Given the description of an element on the screen output the (x, y) to click on. 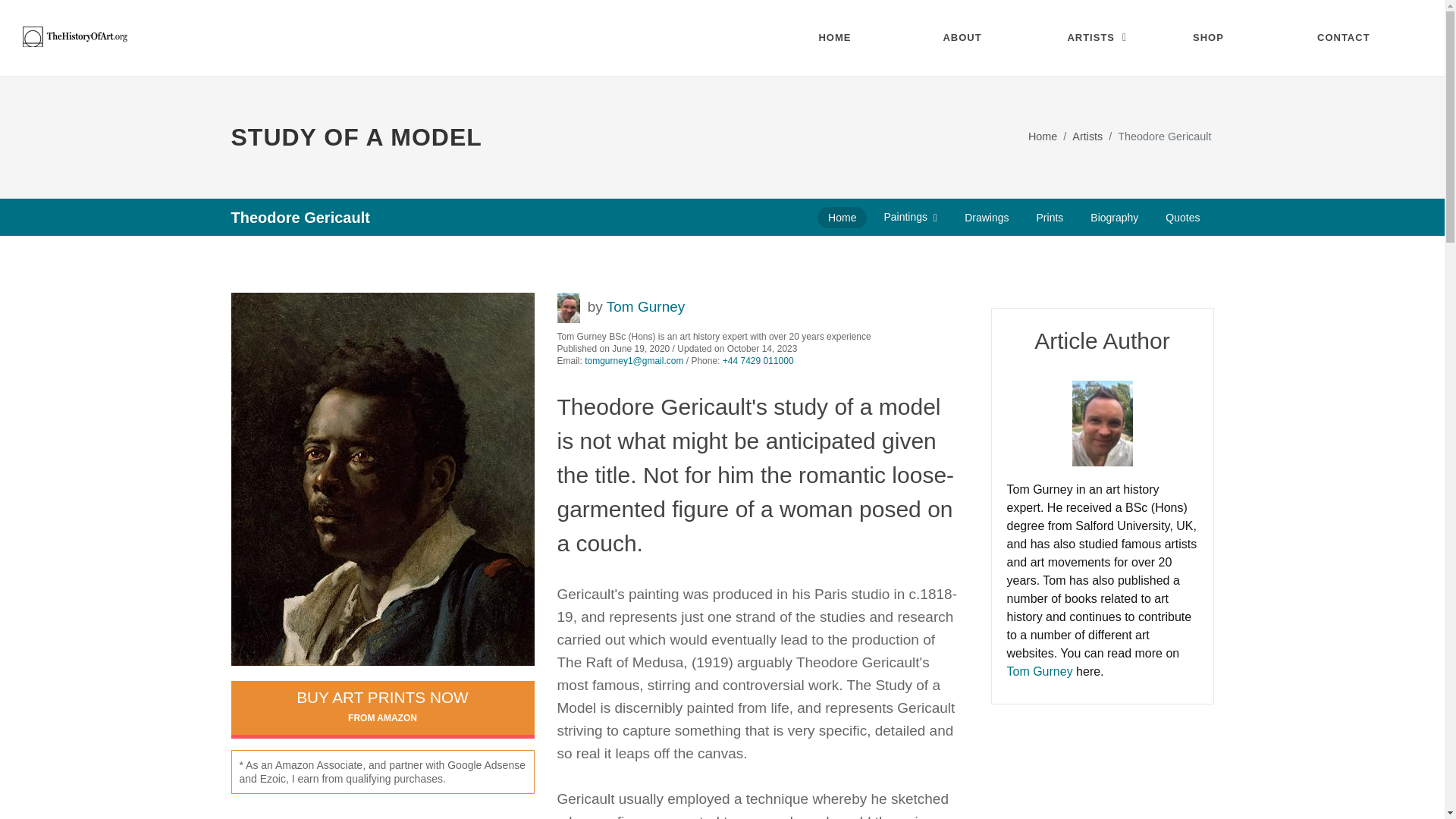
HOME (849, 38)
ARTISTS (1098, 38)
ABOUT (973, 38)
